Given the description of an element on the screen output the (x, y) to click on. 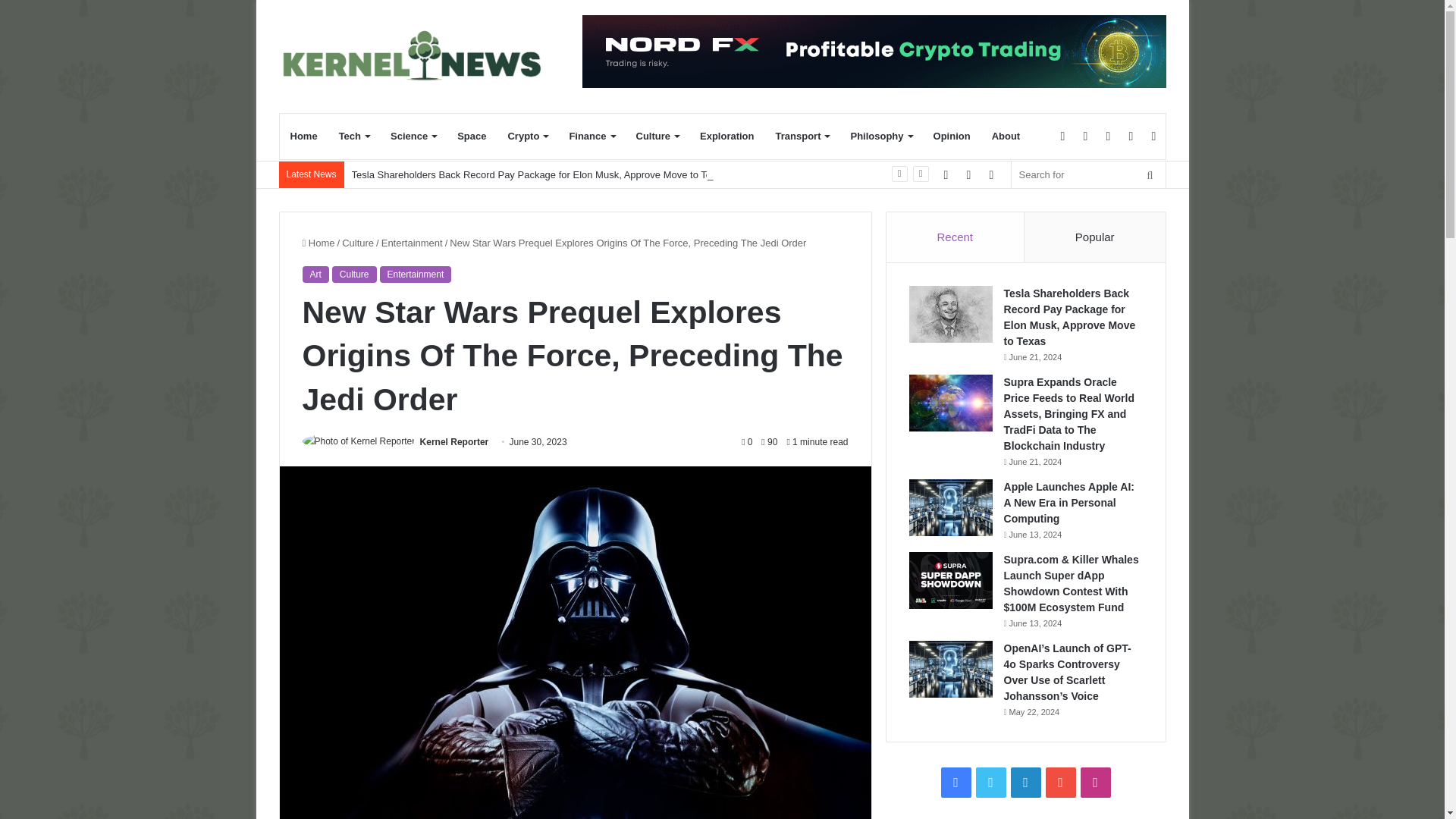
Crypto (526, 135)
Space (471, 135)
Kernel News (419, 56)
Kernel Reporter (454, 441)
Finance (590, 135)
Culture (656, 135)
Home (303, 135)
Search for (1088, 174)
Science (413, 135)
Tech (354, 135)
